Given the description of an element on the screen output the (x, y) to click on. 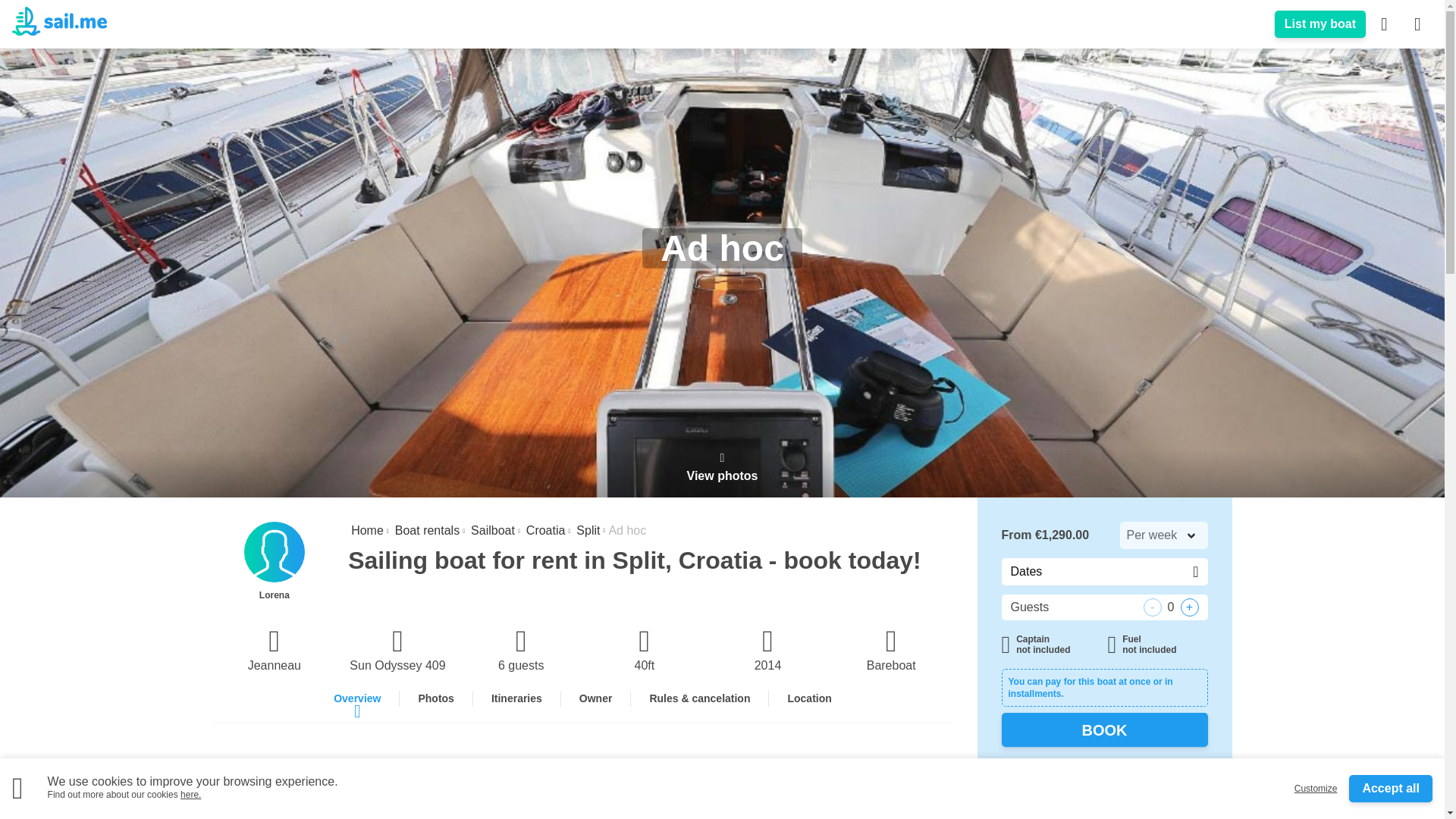
Croatia (544, 530)
Click to visit sail.me's Boat Owner page (1320, 23)
Click to visit Lorena (274, 561)
Click to visit sail.me's home page (365, 530)
Boat rentals (425, 530)
Sailboats boats on sail.me (491, 530)
BOOK (1104, 729)
Click to visit sail.me's home page (58, 23)
List my boat (1320, 23)
- (1151, 607)
Home (365, 530)
Search boats in Split (586, 530)
Search boats in Croatia (544, 530)
Click to visit sail.me's Cookie policy. (190, 794)
Customize (1316, 788)
